Given the description of an element on the screen output the (x, y) to click on. 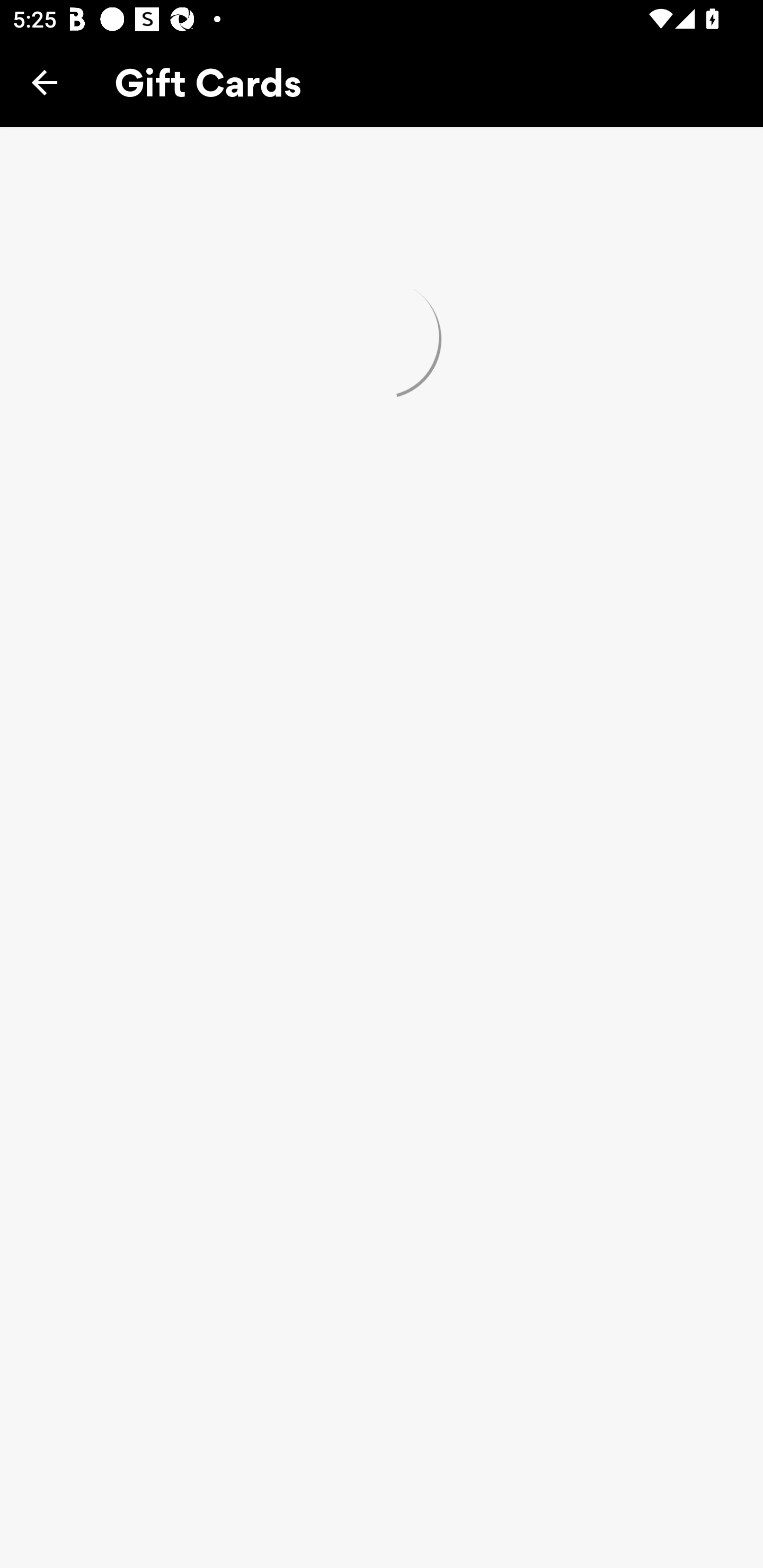
Back (44, 82)
